Given the description of an element on the screen output the (x, y) to click on. 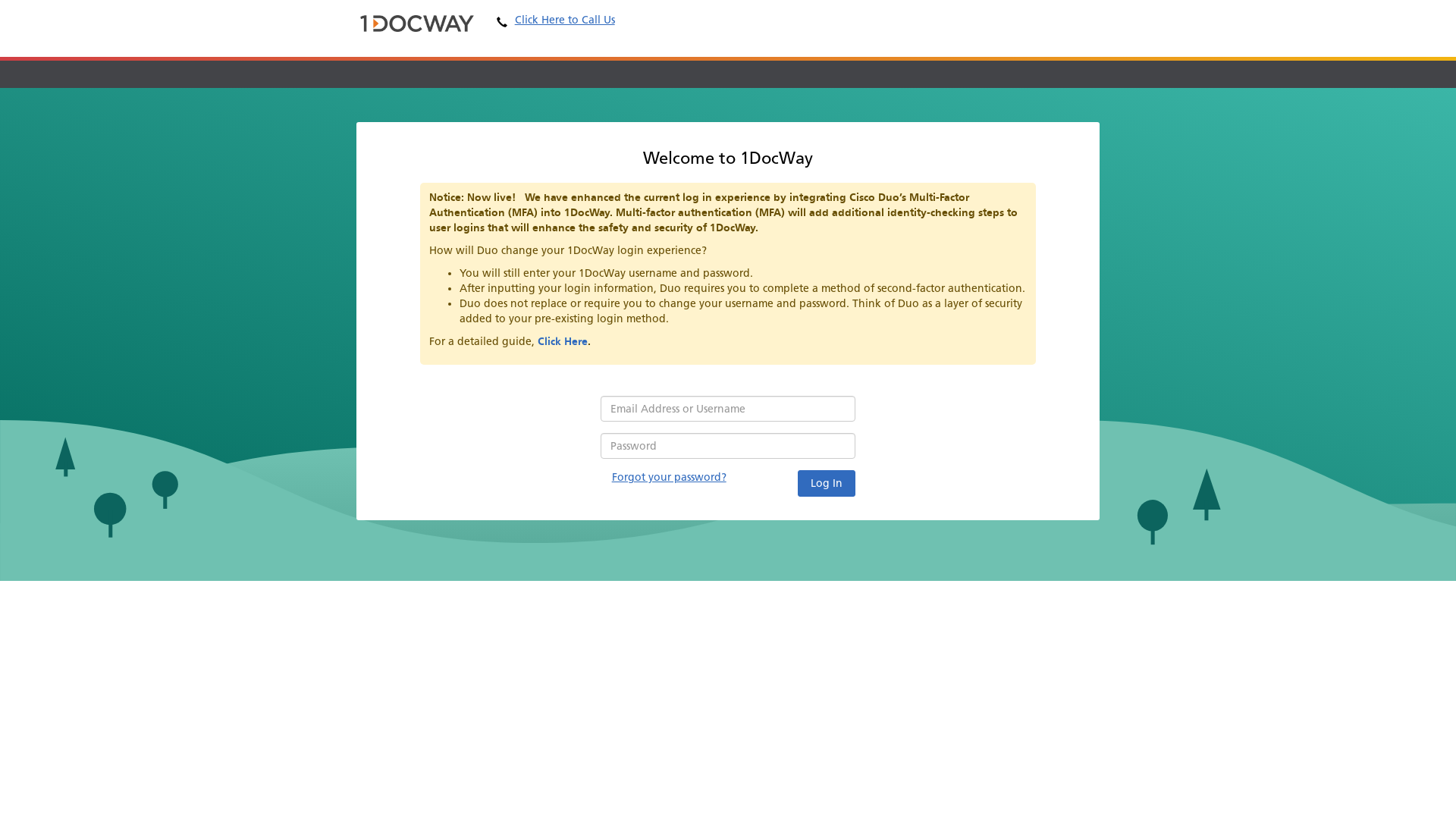
Click Here to Call Us Element type: text (555, 20)
Click Here Element type: text (562, 341)
Forgot your password? Element type: text (668, 476)
Log In Element type: text (826, 483)
